Given the description of an element on the screen output the (x, y) to click on. 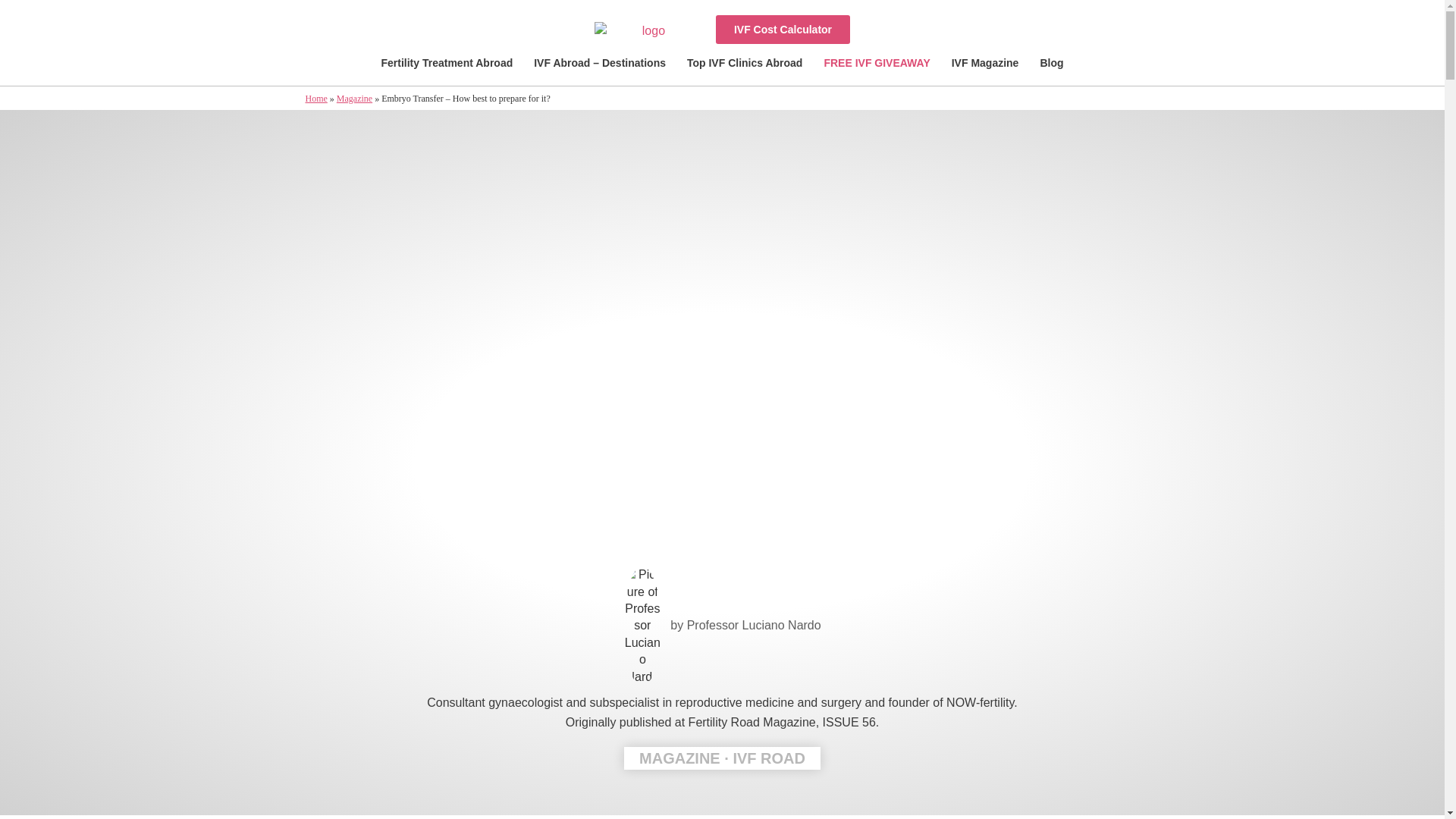
Top IVF Clinics Abroad (744, 62)
IVF Cost Calculator (783, 29)
FREE IVF GIVEAWAY (876, 62)
IVF Magazine (984, 62)
Fertility Treatment Abroad (445, 62)
Blog (1051, 62)
